Given the description of an element on the screen output the (x, y) to click on. 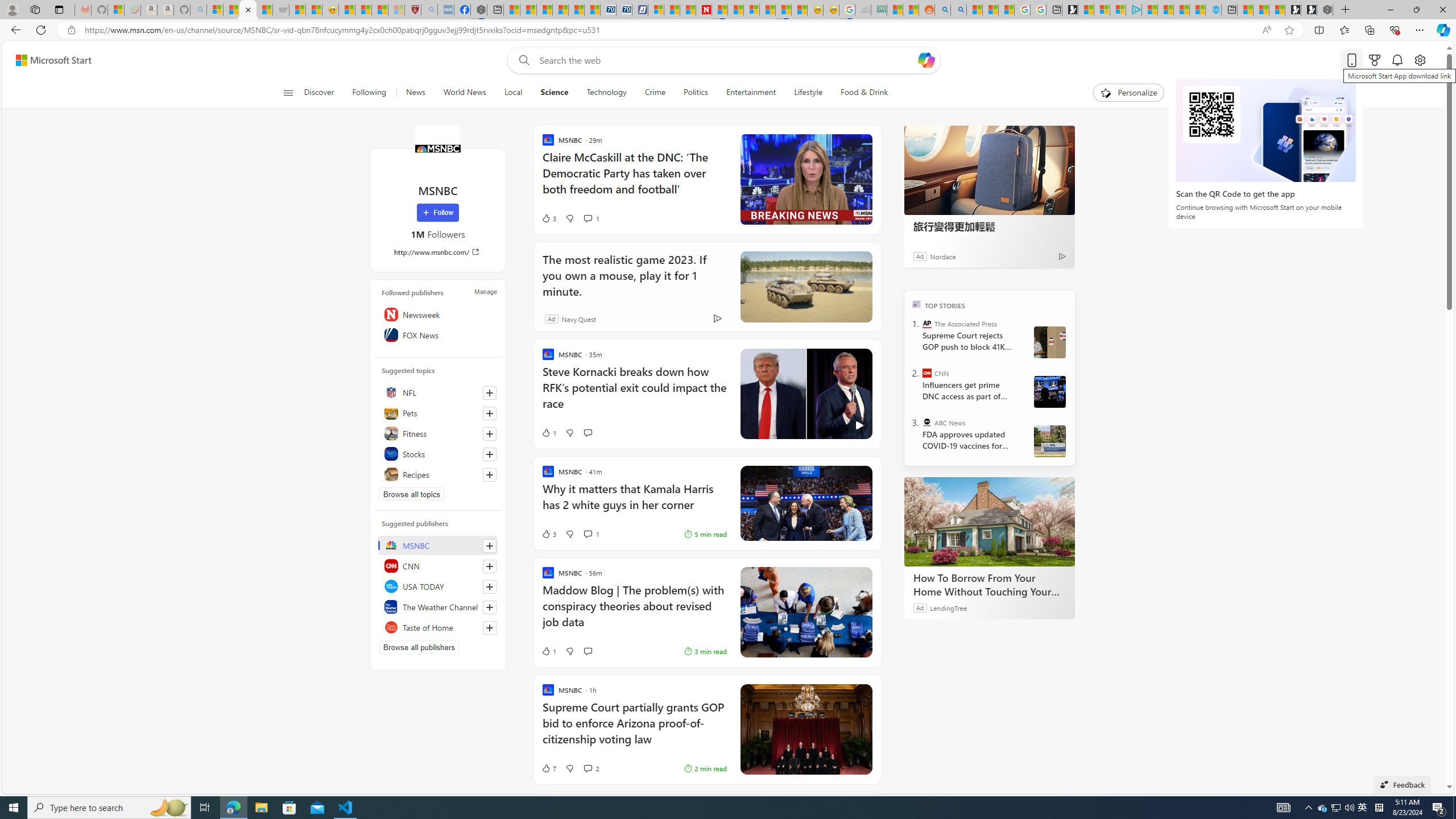
View comments 1 Comment (591, 533)
View comments 1 Comment (587, 533)
TOP (916, 302)
ABC News (927, 422)
Browse all topics (412, 494)
